Given the description of an element on the screen output the (x, y) to click on. 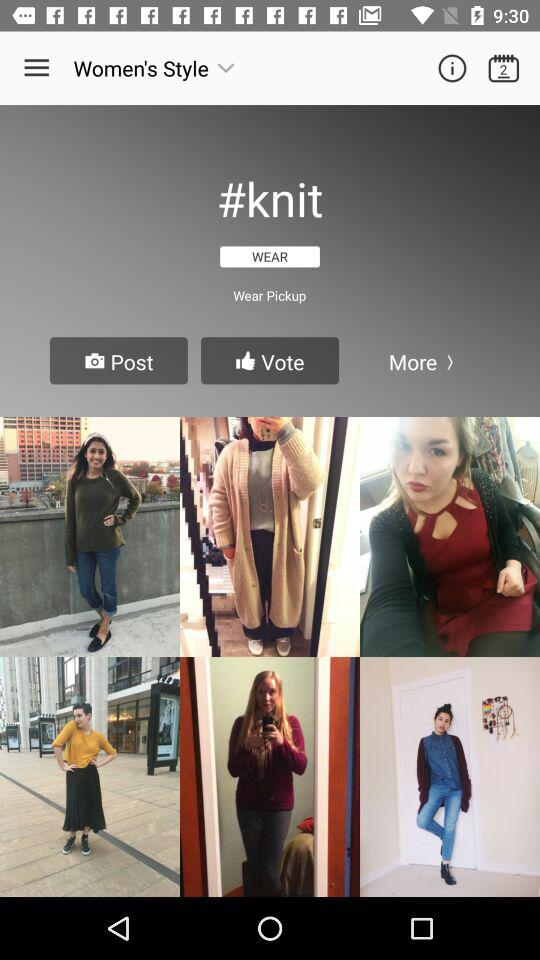
go to details (452, 68)
